Given the description of an element on the screen output the (x, y) to click on. 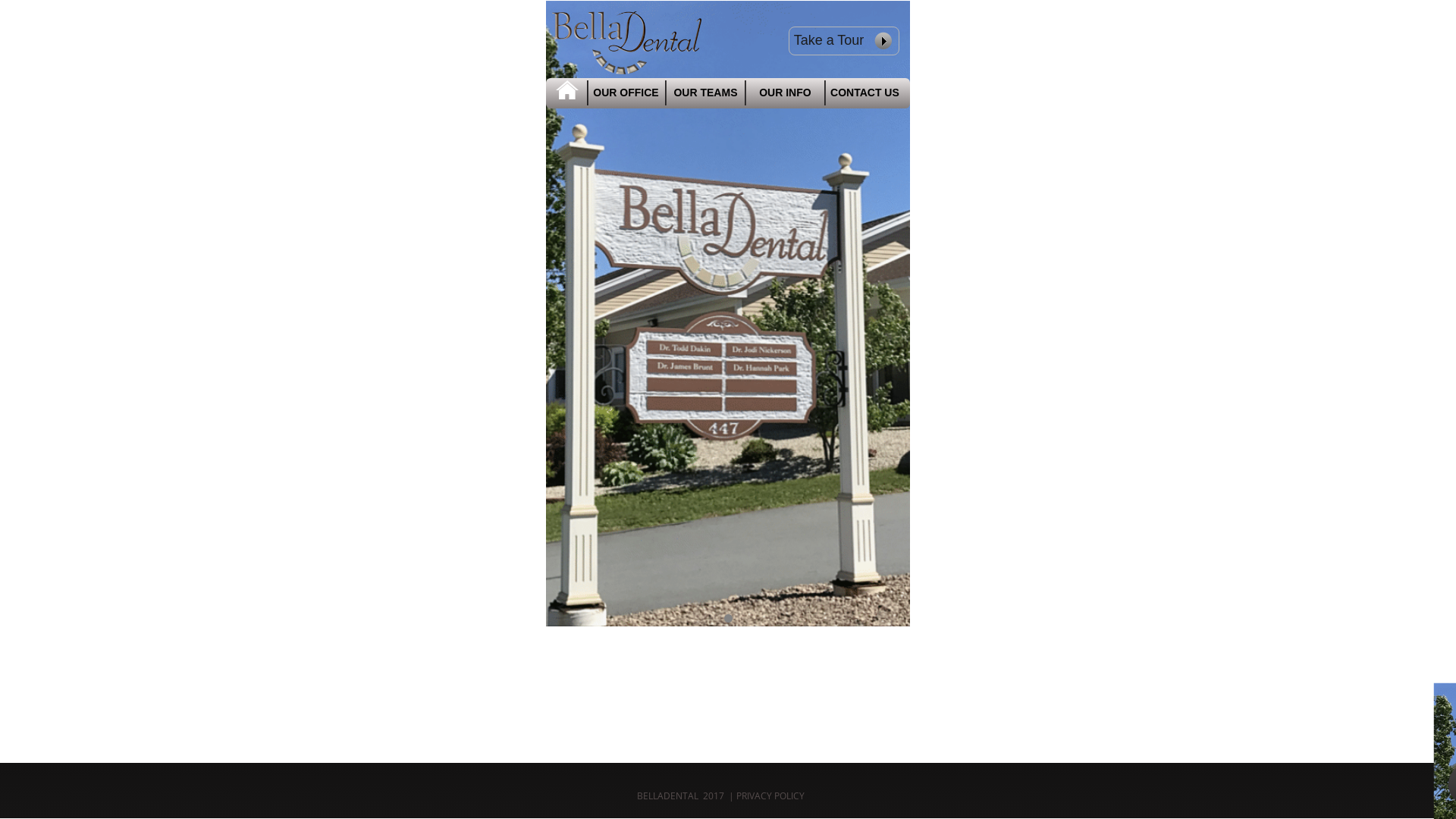
OUR INFO Element type: text (785, 92)
CONTACT US Element type: text (864, 92)
OUR TEAMS Element type: text (705, 92)
Take a Tour Element type: text (843, 38)
Take a Tour Element type: text (843, 40)
OUR OFFICE Element type: text (625, 92)
PRIVACY POLICY Element type: text (686, 787)
